Given the description of an element on the screen output the (x, y) to click on. 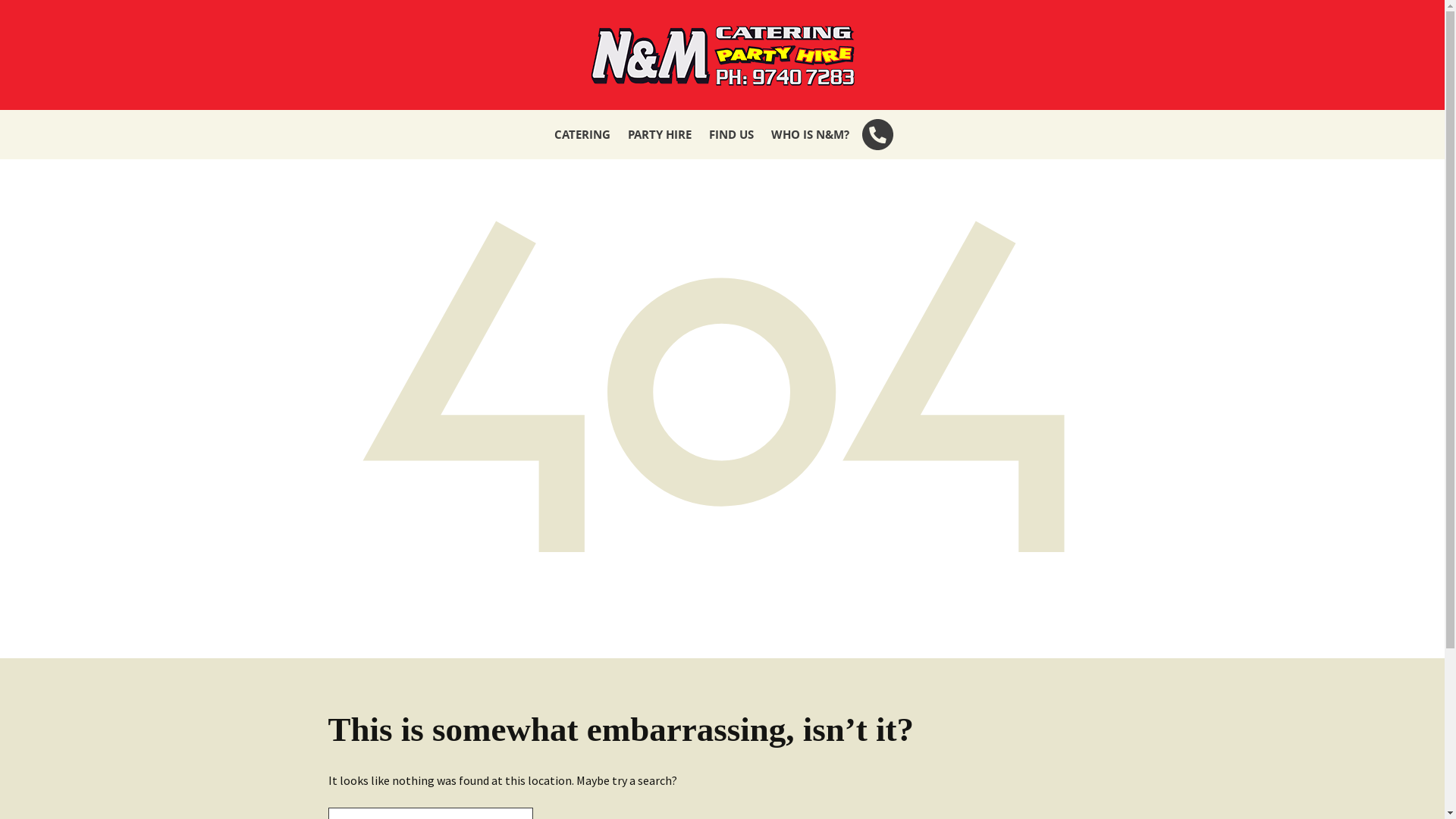
CATERING Element type: text (581, 134)
FIND US Element type: text (730, 134)
PARTY HIRE Element type: text (659, 134)
CLASSIC SPITROAST Element type: text (621, 183)
N & M Catering and Party Hire Element type: hover (722, 54)
Skip to content Element type: text (721, 109)
Search Element type: text (37, 15)
PARTY HIRE PACKAGES Element type: text (695, 183)
WHO IS N&M? Element type: text (809, 134)
